Given the description of an element on the screen output the (x, y) to click on. 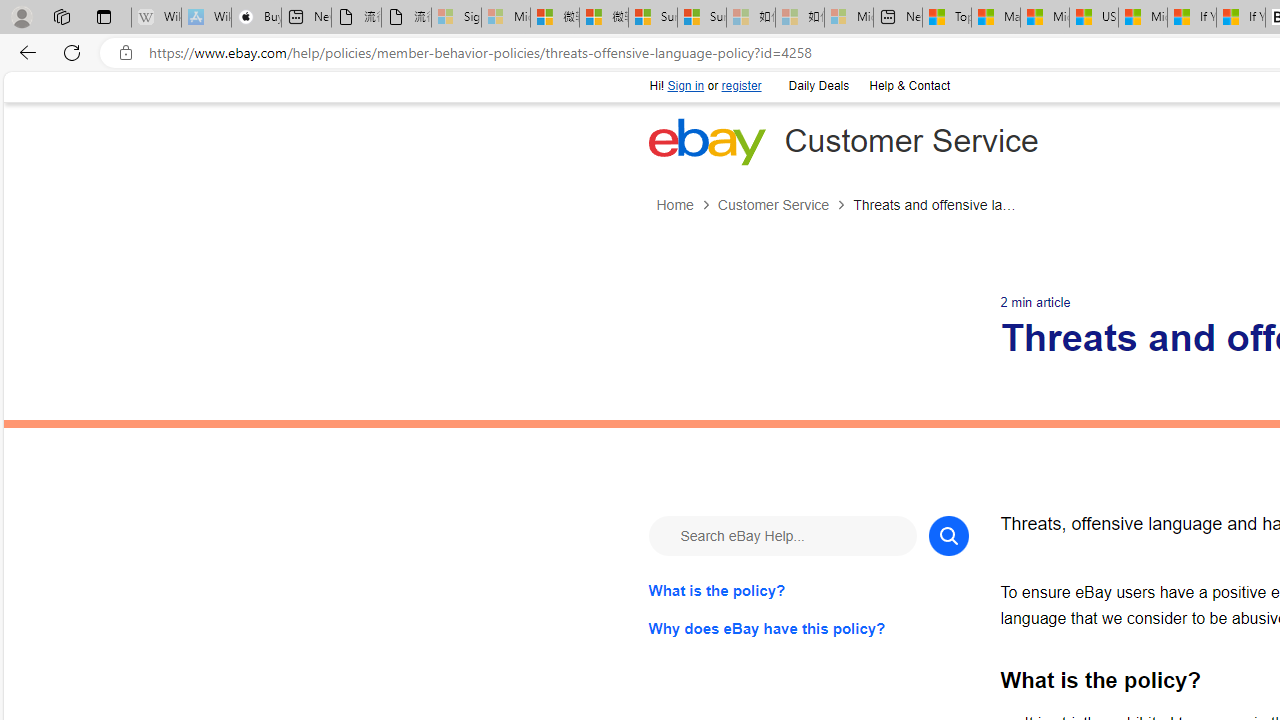
Back (24, 52)
Top Stories - MSN (946, 17)
What is the policy? (807, 589)
Workspaces (61, 16)
Daily Deals (817, 84)
Marine life - MSN (995, 17)
Sign in to your Microsoft account - Sleeping (456, 17)
US Heat Deaths Soared To Record High Last Year (1093, 17)
Microsoft account | Account Checkup - Sleeping (848, 17)
Tab actions menu (104, 16)
Personal Profile (21, 16)
Daily Deals (818, 86)
What is the policy? (807, 589)
